Given the description of an element on the screen output the (x, y) to click on. 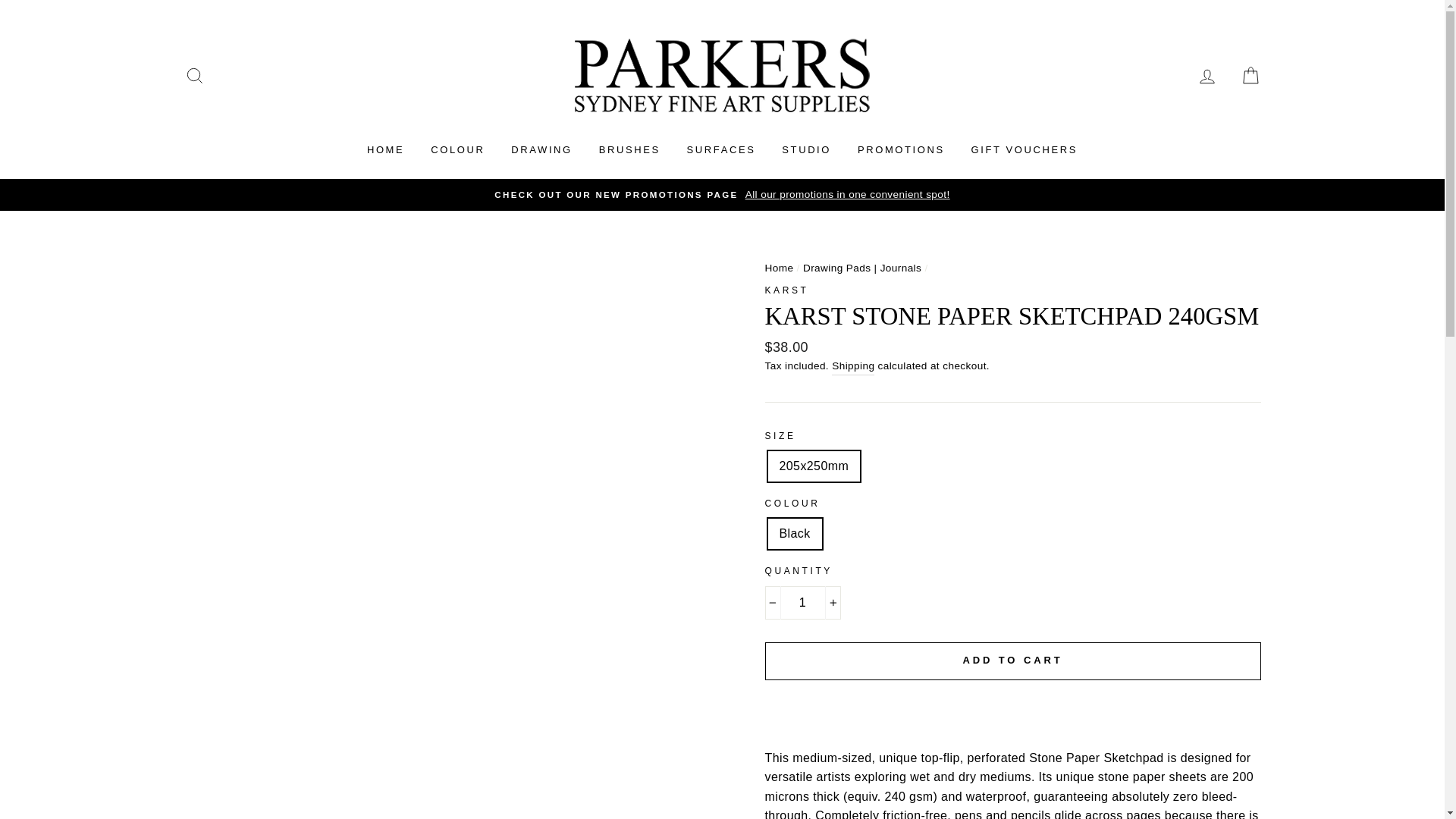
Back to the frontpage (778, 267)
1 (802, 602)
Karst (786, 290)
